Given the description of an element on the screen output the (x, y) to click on. 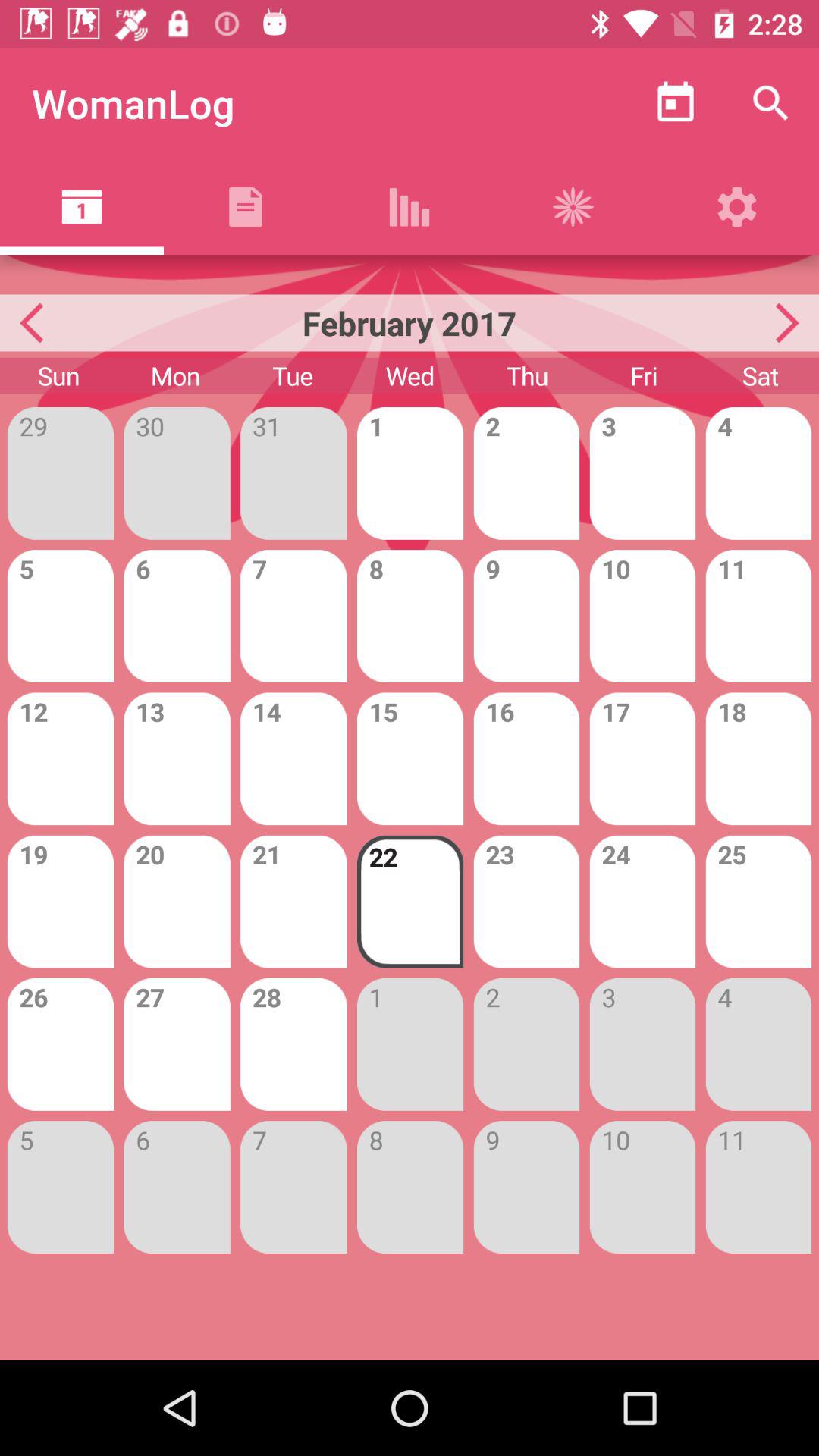
press the icon to the right of womanlog item (675, 103)
